Given the description of an element on the screen output the (x, y) to click on. 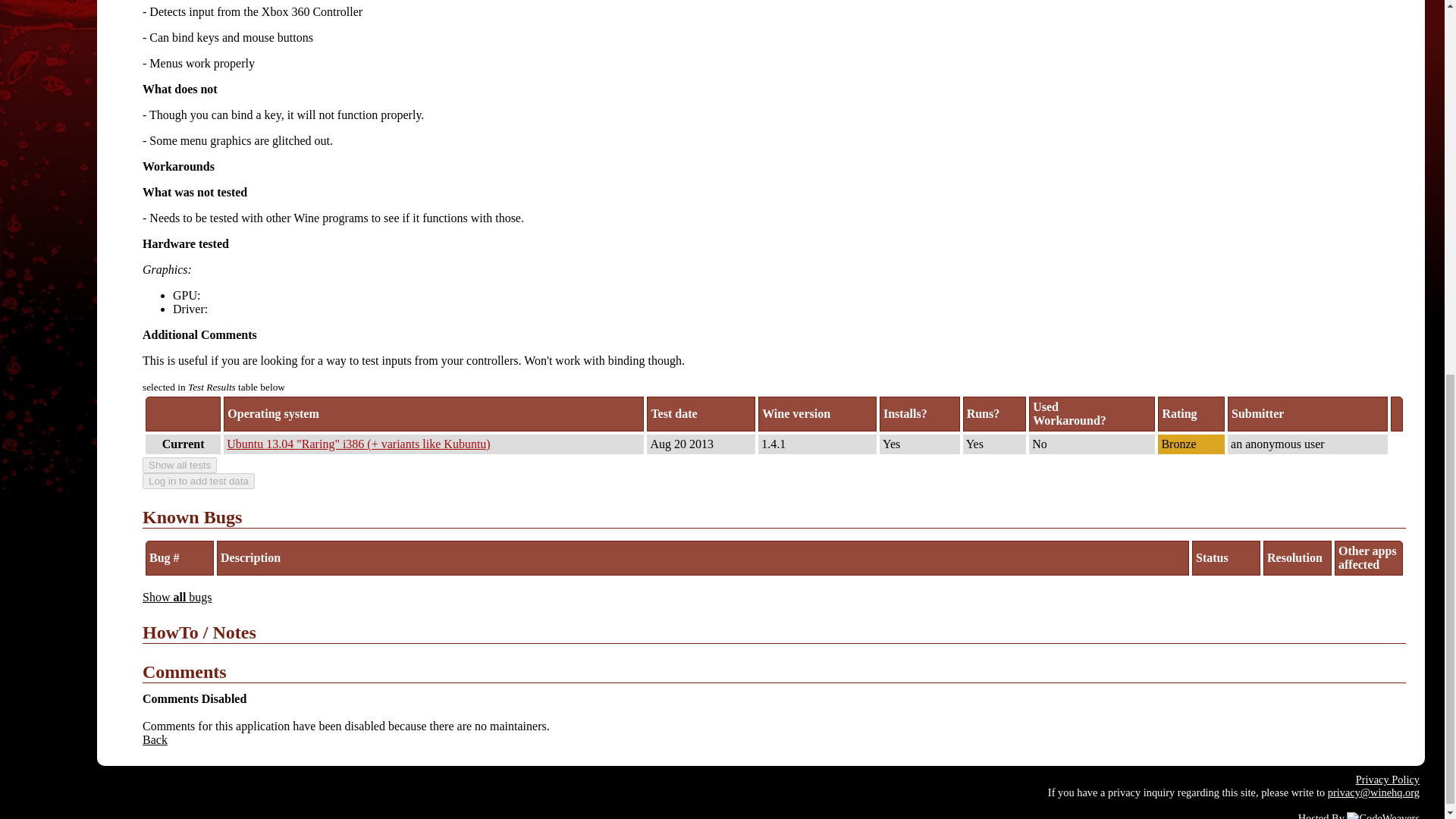
Back (154, 739)
Privacy Policy (1387, 779)
Show all tests (179, 465)
Known Bugs (774, 517)
Show all bugs (177, 596)
Comments (774, 672)
Log in to add test data (198, 480)
